Given the description of an element on the screen output the (x, y) to click on. 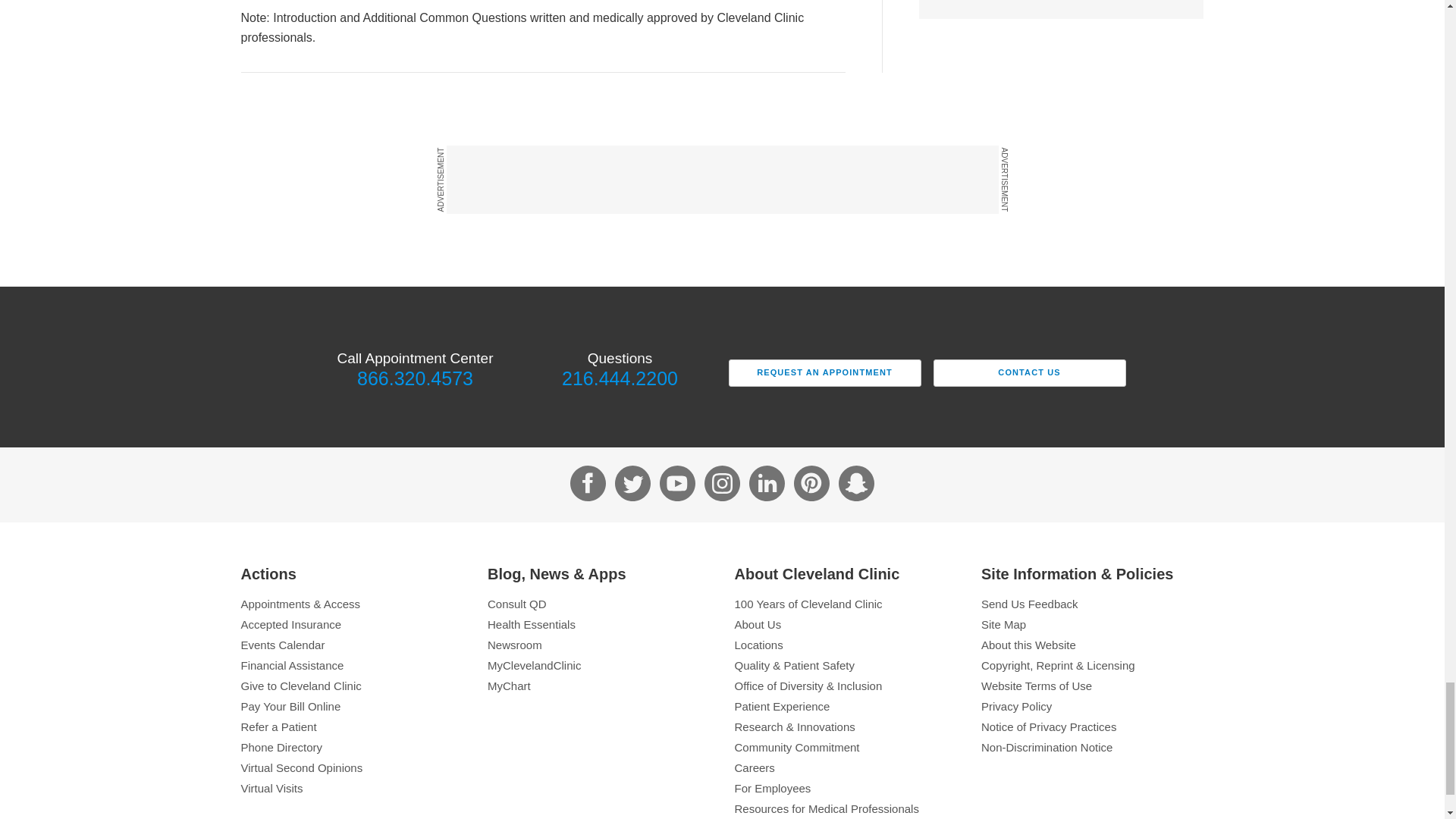
Pay Your Bill (352, 705)
CONTACT US (1029, 372)
Accepted Insurance (352, 624)
Appointments (352, 603)
Send Us Feedback (1092, 603)
216.444.2200 (619, 378)
Careers (844, 767)
Health Essentials (598, 624)
Newsroom (598, 644)
Phone Directory (352, 746)
REQUEST AN APPOINTMENT (824, 372)
866.320.4573 (414, 378)
Consult QD (598, 603)
